Given the description of an element on the screen output the (x, y) to click on. 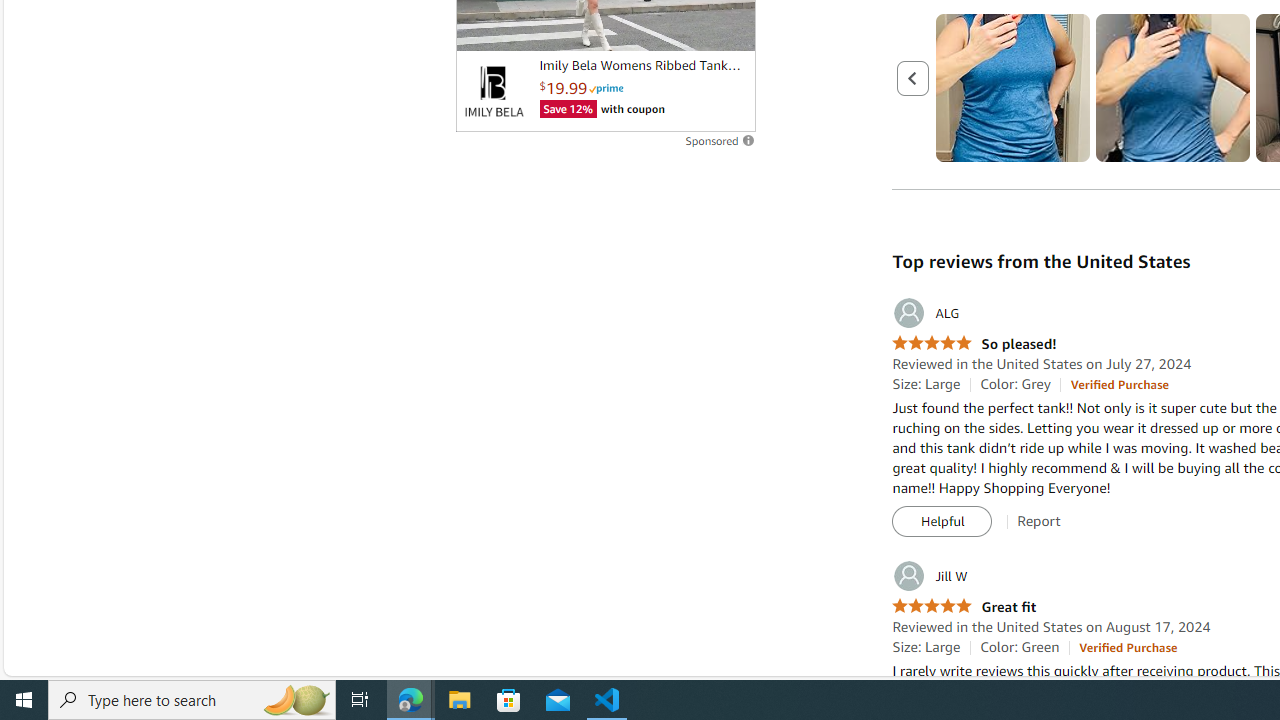
Prime (605, 88)
Customer Image (1172, 87)
Pause (481, 27)
5.0 out of 5 stars Great fit (964, 607)
ALG (926, 313)
Logo (493, 91)
Customer Image (1172, 87)
Unmute (729, 27)
Class: a-carousel-card (1173, 88)
Verified Purchase (1128, 646)
5.0 out of 5 stars So pleased! (974, 344)
Report (1039, 521)
Helpful (942, 521)
Jill W (929, 576)
Previous page (913, 77)
